Given the description of an element on the screen output the (x, y) to click on. 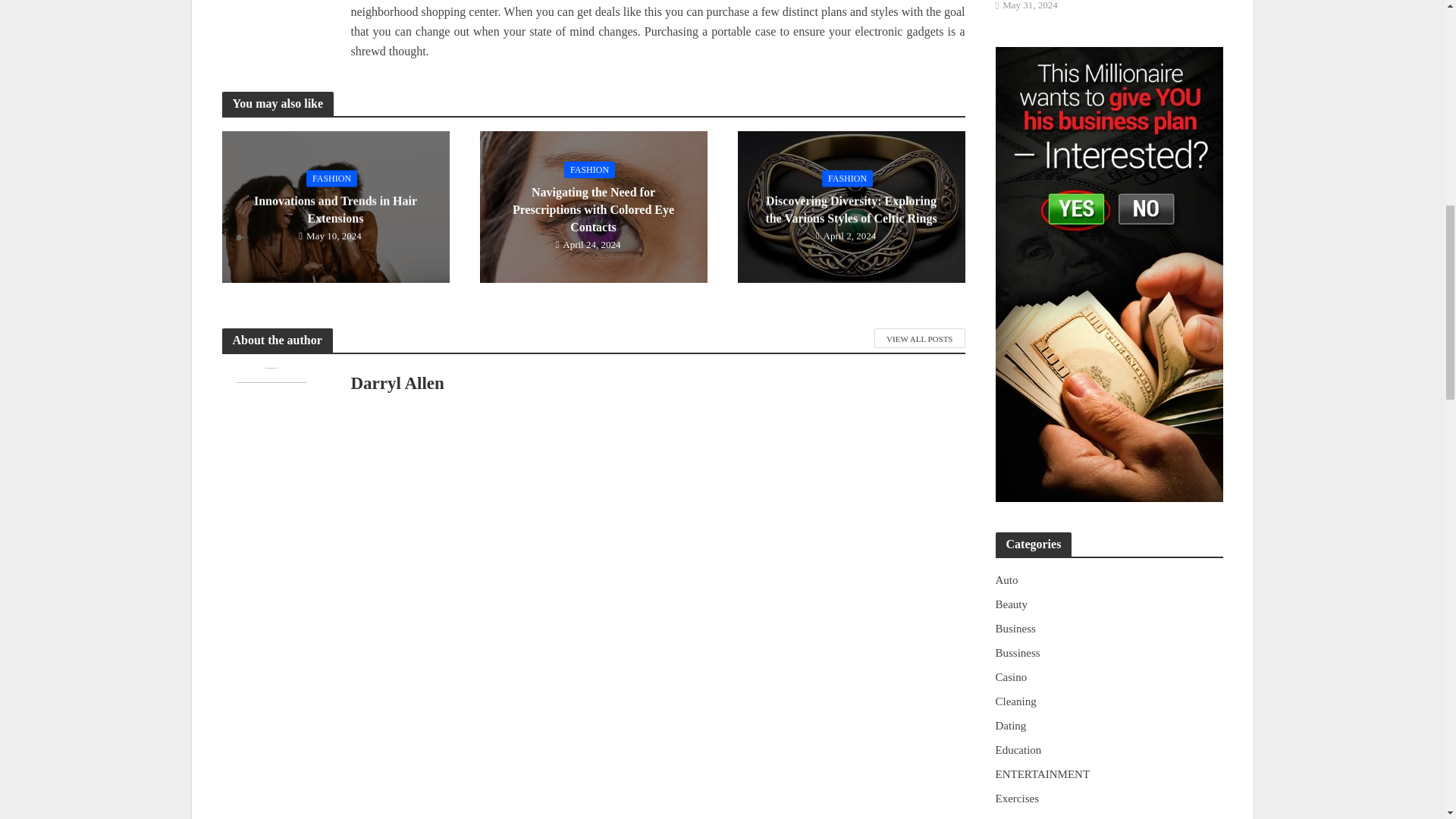
Innovations and Trends in Hair Extensions (334, 205)
